Given the description of an element on the screen output the (x, y) to click on. 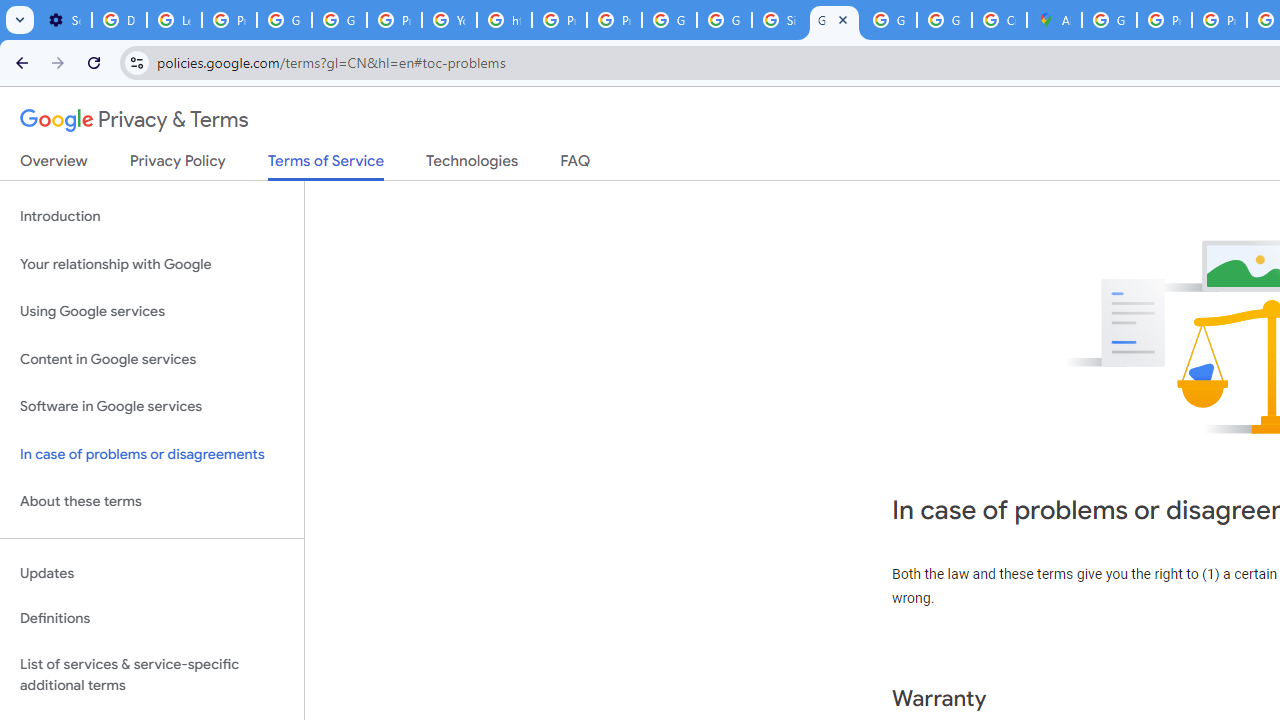
System (10, 11)
Privacy Help Center - Policies Help (1163, 20)
Terms of Service (326, 166)
YouTube (449, 20)
Privacy Help Center - Policies Help (559, 20)
Privacy & Terms (134, 120)
View site information (136, 62)
Reload (93, 62)
Content in Google services (152, 358)
Overview (54, 165)
Updates (152, 573)
